Given the description of an element on the screen output the (x, y) to click on. 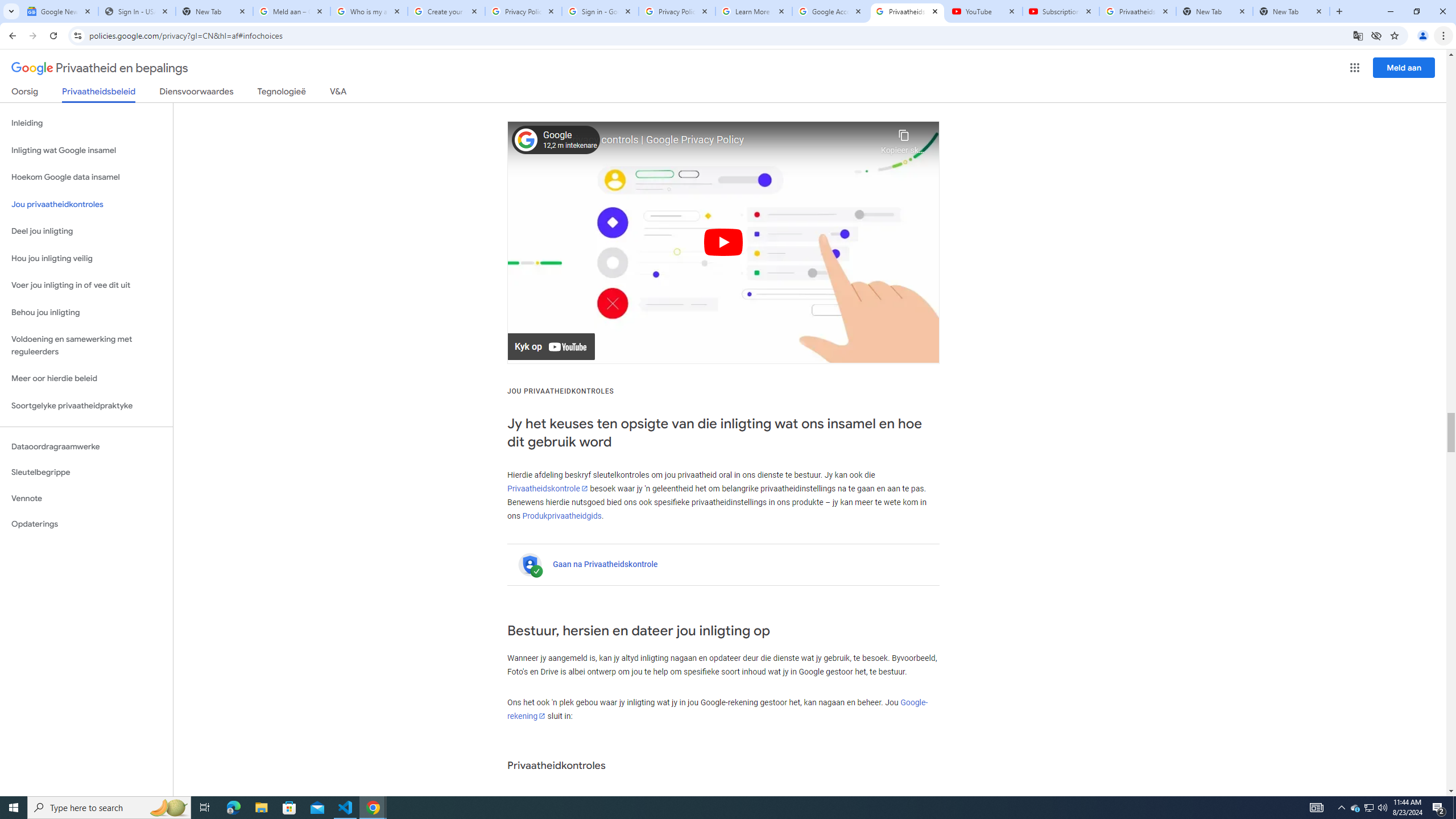
Kyk op YouTube (551, 346)
Google Account (830, 11)
Google-rekening (717, 708)
New Tab (1291, 11)
